Given the description of an element on the screen output the (x, y) to click on. 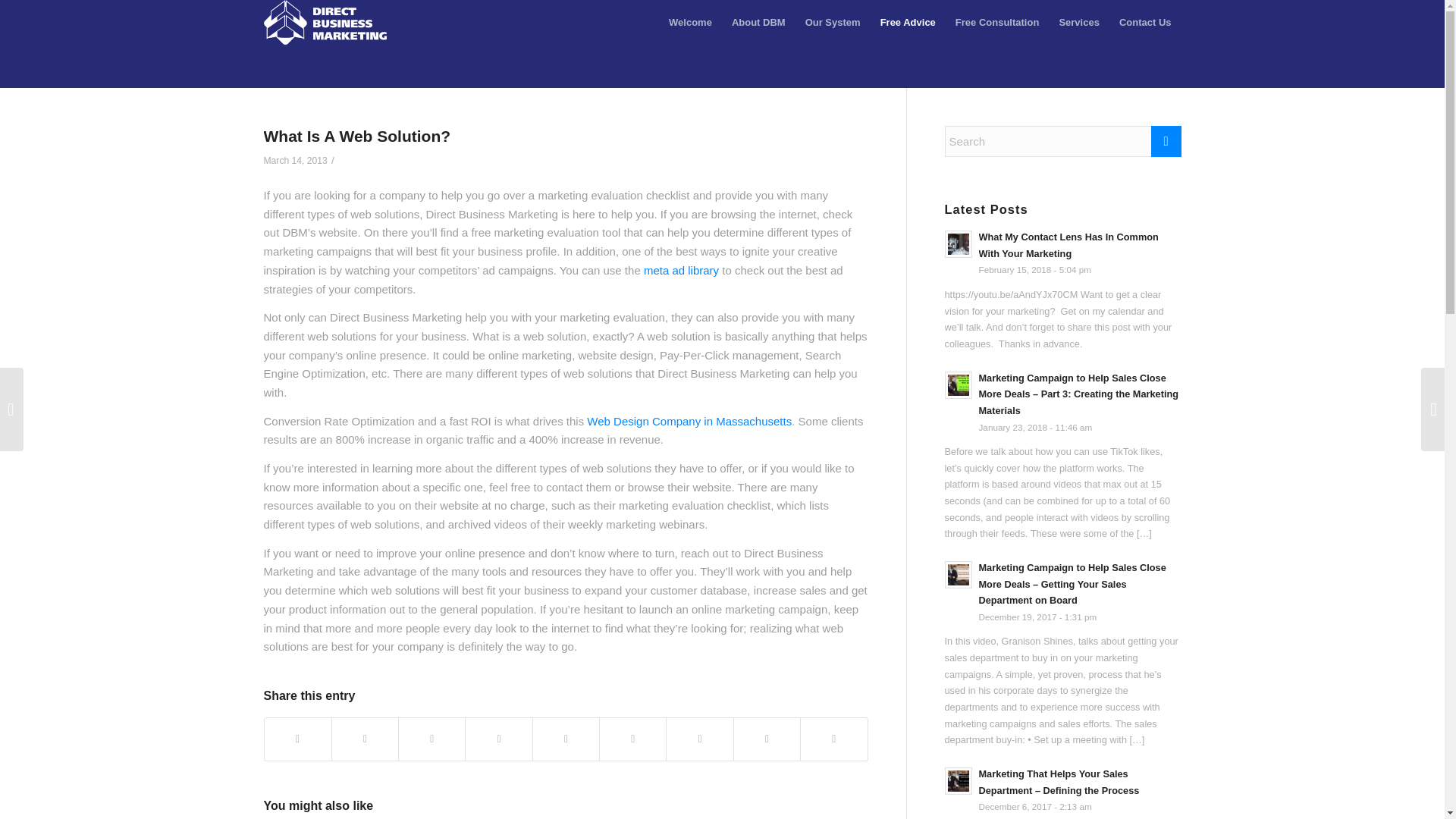
Welcome (690, 22)
Free Advice (907, 22)
Free Consultation (996, 22)
Web Design Company in Massachusetts (689, 420)
Contact Us (1144, 22)
meta ad library (681, 269)
Services (1078, 22)
What Is A Web Solution? (357, 135)
About DBM (758, 22)
Permanent Link: What Is A Web Solution? (357, 135)
Our System (832, 22)
